Given the description of an element on the screen output the (x, y) to click on. 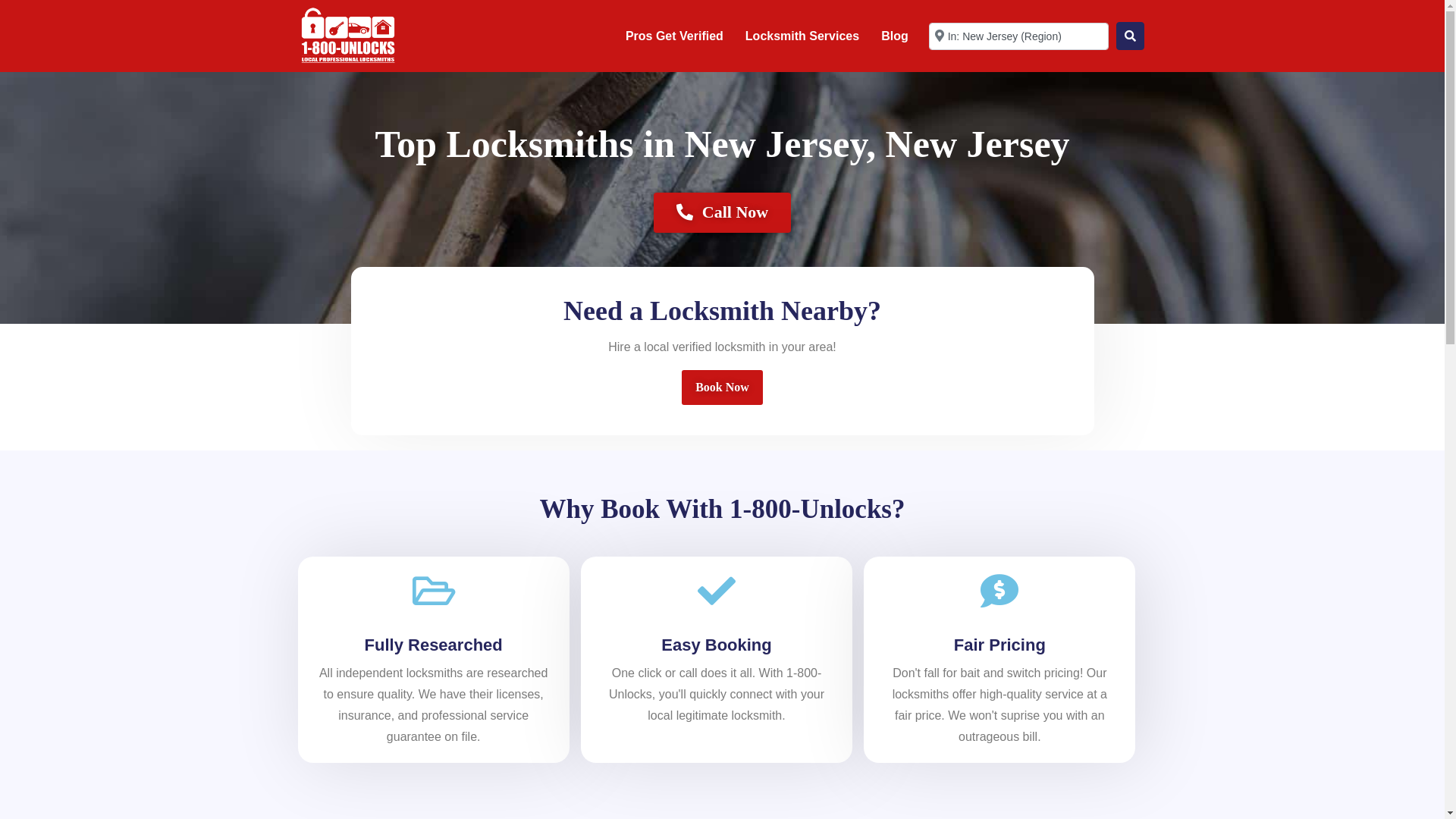
Book Now Element type: text (721, 387)
Call Now Element type: text (721, 212)
Locksmith Services Element type: text (802, 35)
Search
Search Element type: text (1130, 35)
Blog Element type: text (894, 35)
In: New Jersey (Region) Element type: text (1018, 36)
Pros Get Verified Element type: text (674, 35)
